Given the description of an element on the screen output the (x, y) to click on. 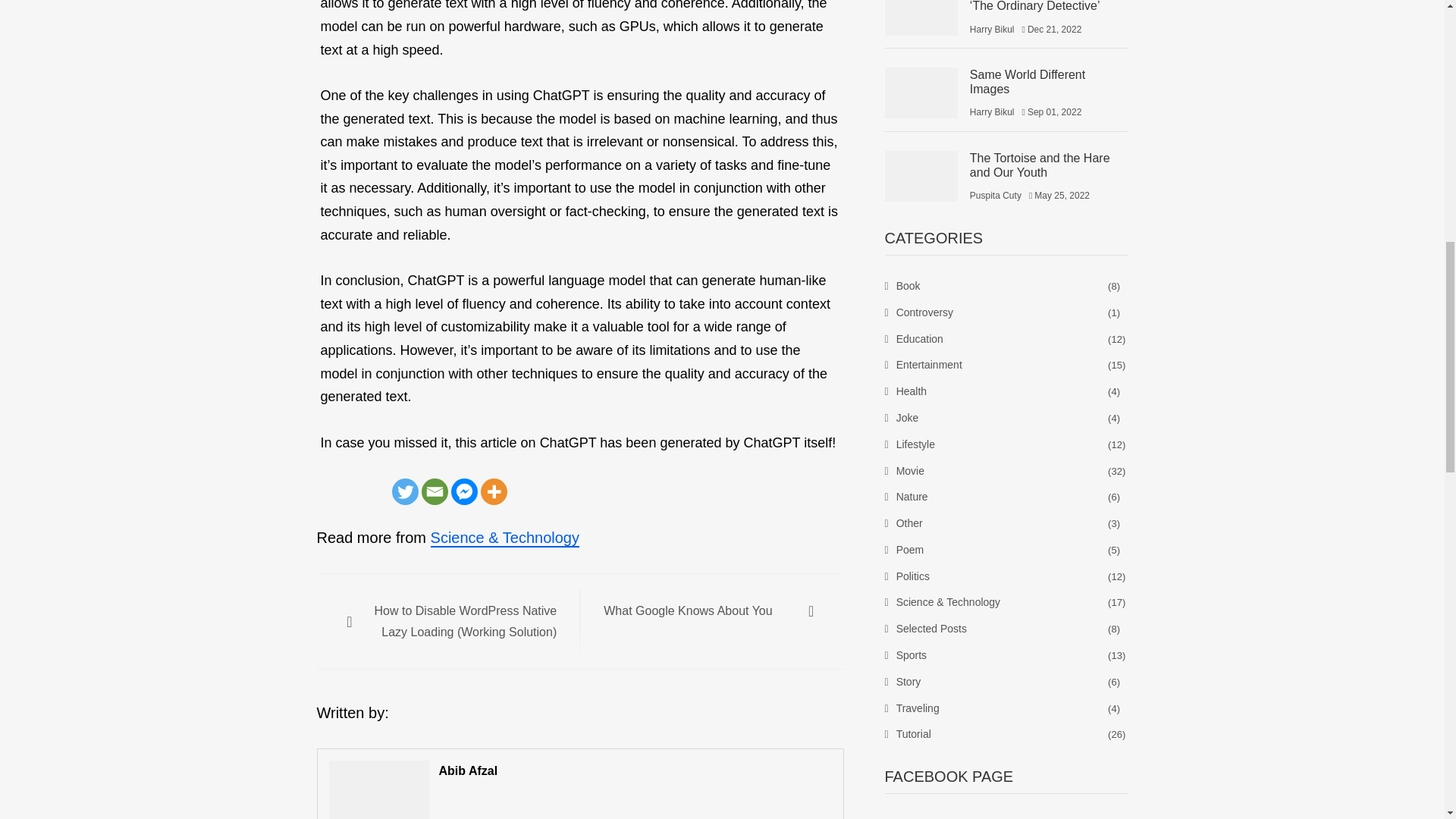
Email (435, 491)
Abib Afzal (580, 770)
What Google Knows About You (697, 610)
Twitter (404, 491)
Facebook Messenger (463, 491)
Same World Different Images (919, 92)
More (493, 491)
The Tortoise and the Hare and Our Youth (919, 175)
